Given the description of an element on the screen output the (x, y) to click on. 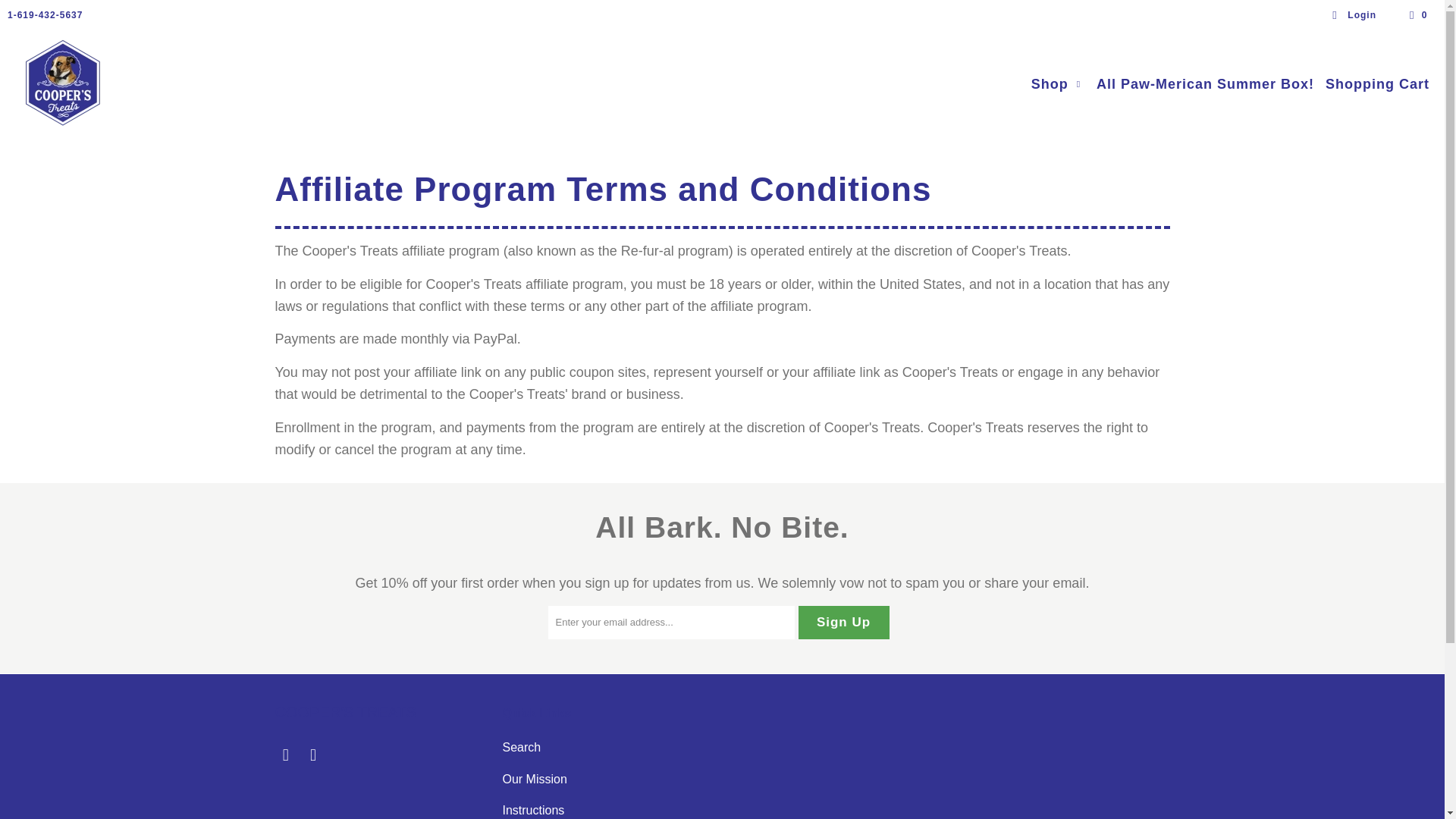
Cooper's Treats on Facebook (286, 755)
Sign Up (842, 622)
Sign Up (842, 622)
1-619-432-5637 (44, 15)
All Paw-Merican Summer Box! (1205, 84)
Shopping Cart (1376, 84)
Search (521, 747)
Our Mission (534, 779)
Cooper's Treats on Instagram (313, 755)
Cooper's Treats (61, 84)
